Given the description of an element on the screen output the (x, y) to click on. 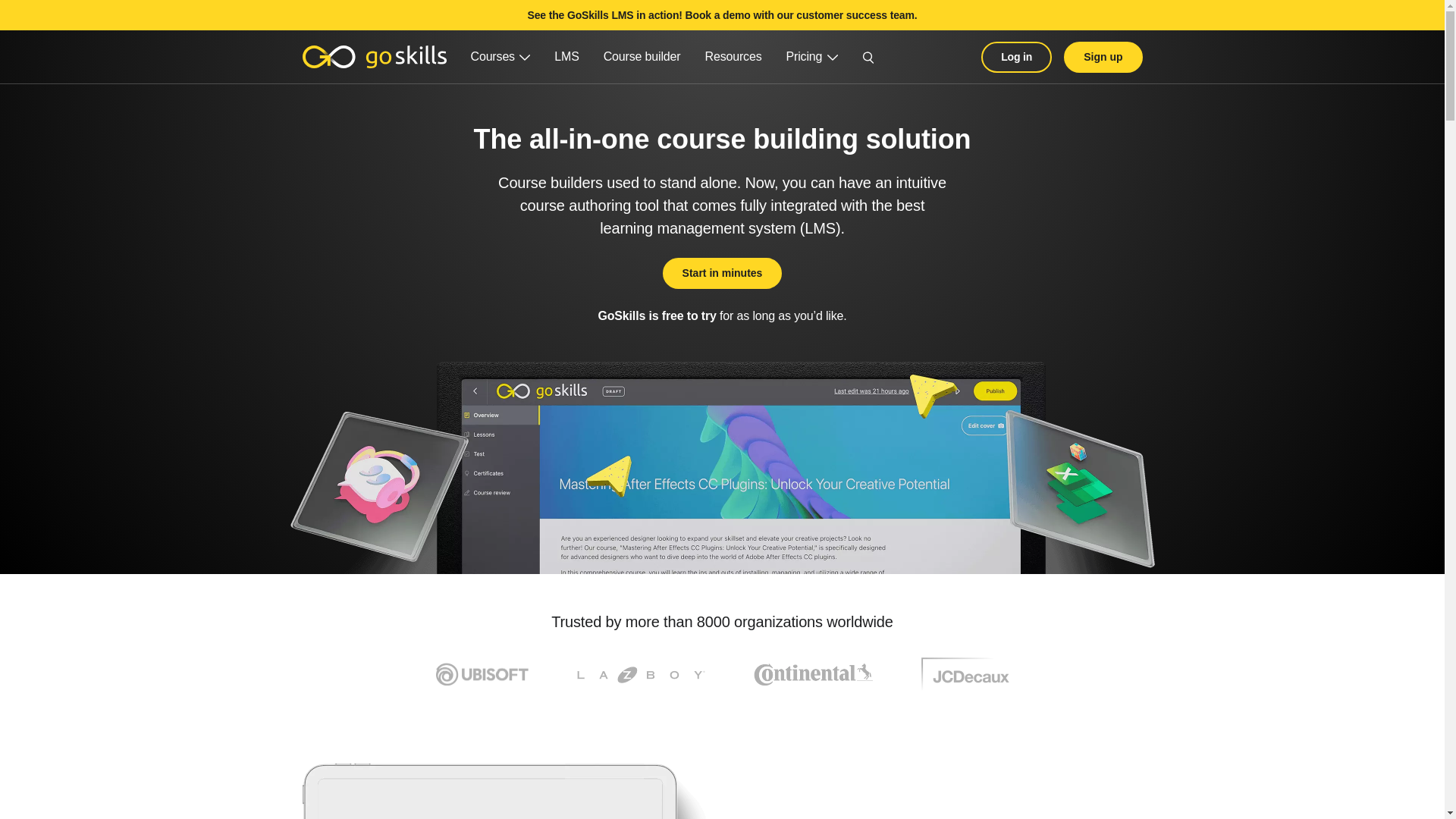
Sign up (1102, 56)
Course builder (641, 56)
Log in (1016, 56)
Resources (733, 56)
Link to search (868, 56)
LMS (566, 56)
Pricing (812, 56)
Start in minutes (722, 273)
Courses (499, 56)
